Given the description of an element on the screen output the (x, y) to click on. 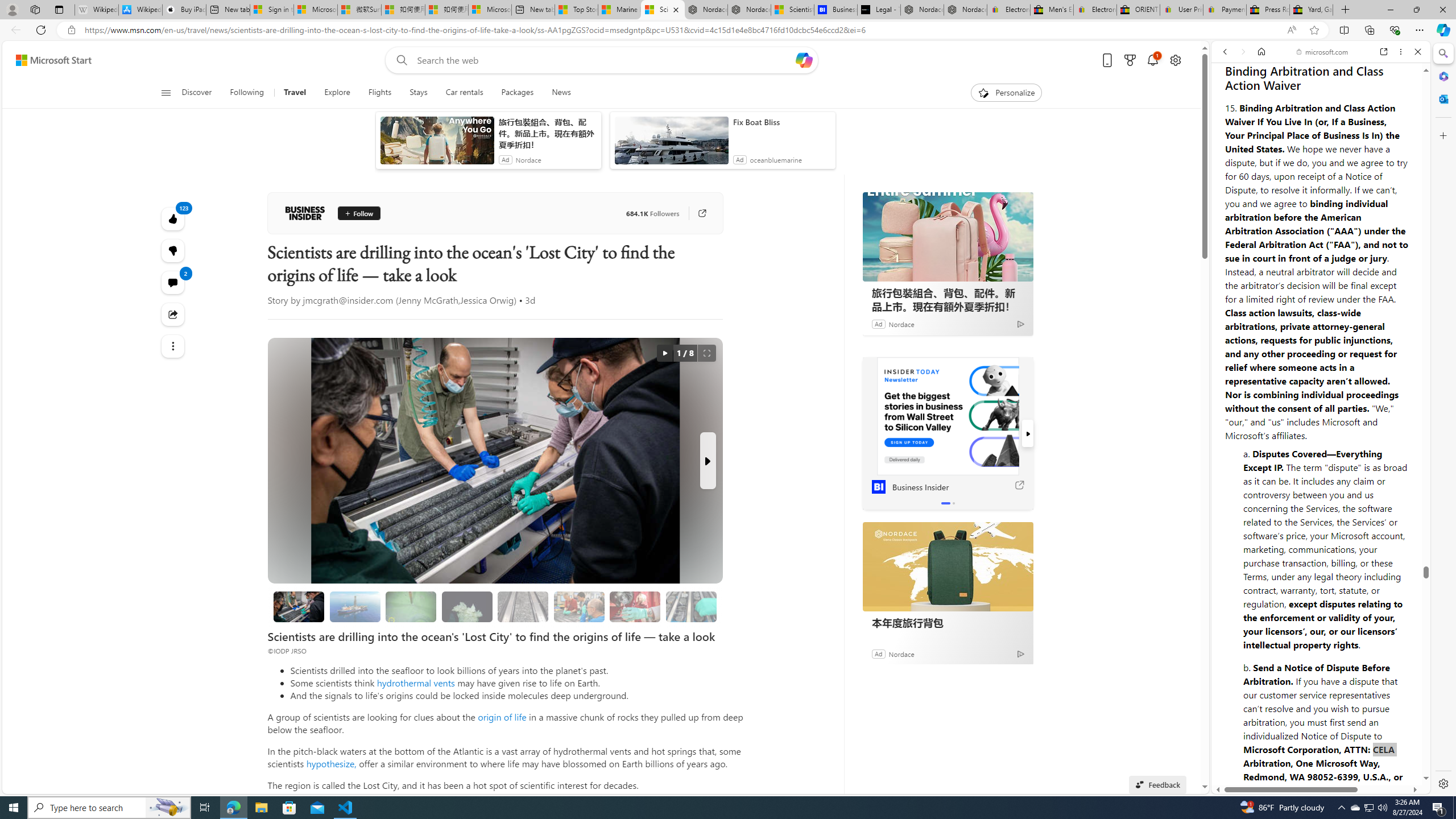
Wikipedia - Sleeping (96, 9)
Privacy (1252, 757)
Open in New Tab (1321, 768)
Go to publisher's site (701, 213)
123 (172, 250)
Top Stories - MSN (576, 9)
oceanbluemarine (775, 159)
Class: button-glyph (165, 92)
